Given the description of an element on the screen output the (x, y) to click on. 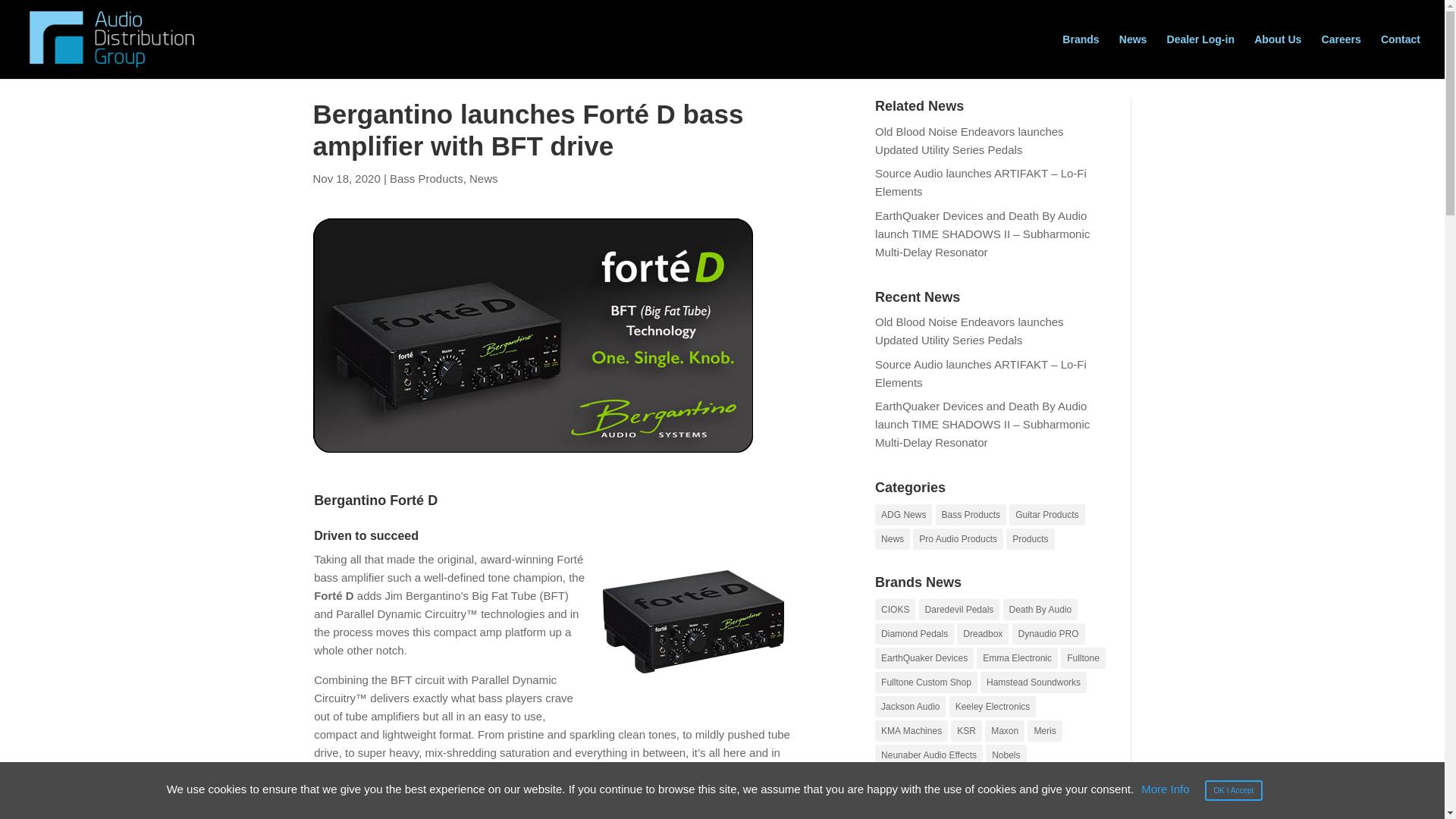
News (482, 178)
EarthQuaker Devices (924, 658)
Guitar Products (1046, 514)
Bass Products (426, 178)
About Us (1277, 56)
Dealer Log-in (1200, 56)
Dreadbox (982, 633)
ADG News (903, 514)
Daredevil Pedals (959, 608)
News (892, 538)
Death By Audio (1040, 608)
Pro Audio Products (957, 538)
CIOKS (895, 608)
